Given the description of an element on the screen output the (x, y) to click on. 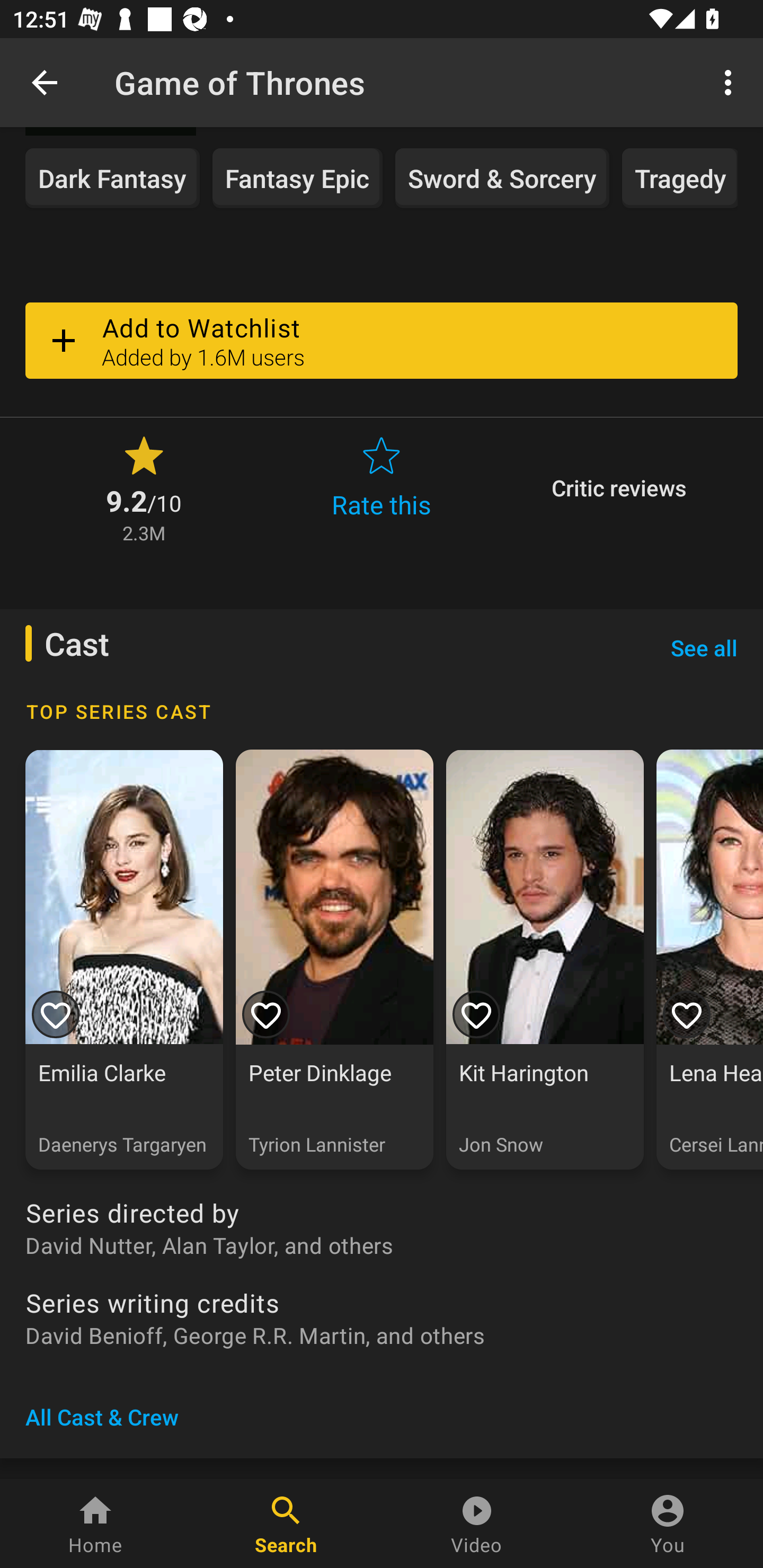
More options (731, 81)
Dark Fantasy (112, 178)
Fantasy Epic (297, 178)
Sword & Sorcery (502, 178)
Tragedy (679, 178)
Add to Watchlist Added by 1.6M users (381, 341)
9.2 /10 2.3M (143, 487)
Rate this (381, 487)
Critic reviews (618, 487)
See all See all Cast (703, 647)
Emilia Clarke Daenerys Targaryen (123, 959)
Peter Dinklage Tyrion Lannister (334, 959)
Kit Harington Jon Snow (544, 959)
David Nutter, Alan Taylor, and others (381, 1244)
David Benioff, George R.R. Martin, and others (381, 1335)
All Cast & Crew (101, 1416)
Home (95, 1523)
Video (476, 1523)
You (667, 1523)
